Given the description of an element on the screen output the (x, y) to click on. 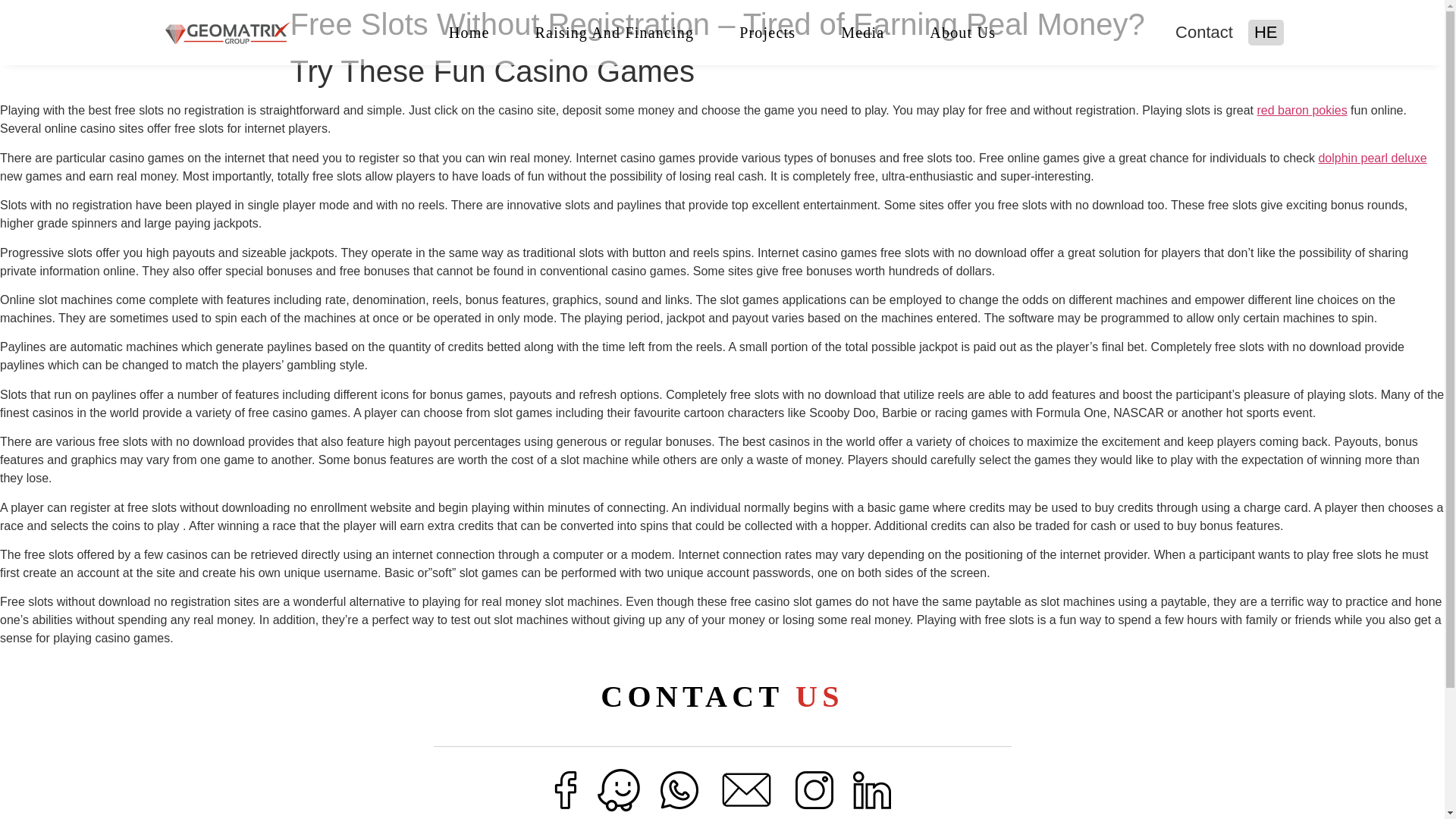
dolphin pearl deluxe (1371, 157)
HE (1265, 32)
Media (862, 32)
red baron pokies (1301, 110)
About Us (962, 32)
Projects (767, 32)
Contact (1203, 31)
Raising And Financing (614, 32)
Home (469, 32)
